Given the description of an element on the screen output the (x, y) to click on. 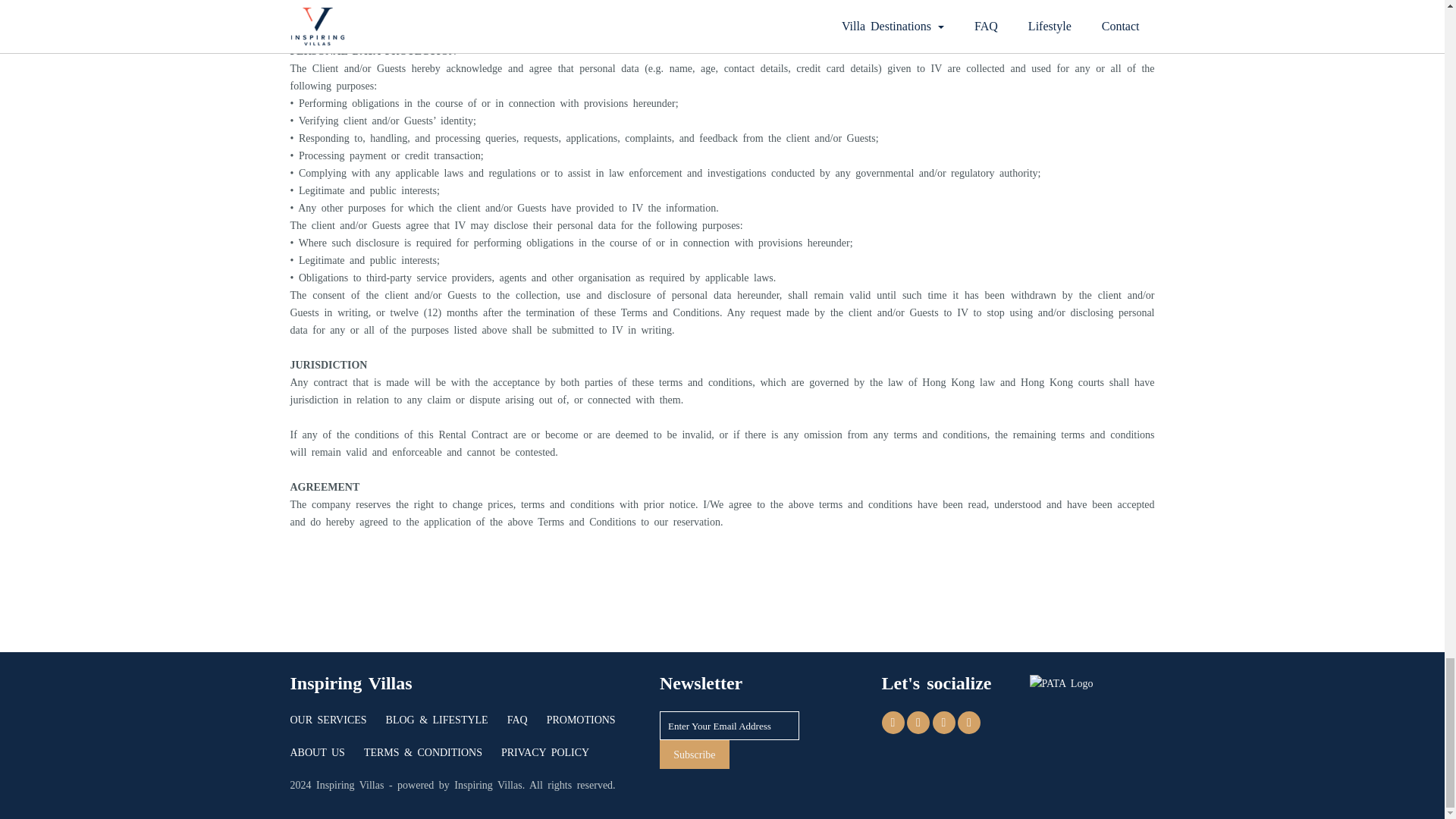
PRIVACY POLICY (554, 758)
OUR SERVICES (337, 727)
ABOUT US (325, 758)
Inspiring Villas (487, 785)
FAQ (526, 727)
Subscribe (694, 754)
Subscribe (694, 754)
PROMOTIONS (590, 727)
